Given the description of an element on the screen output the (x, y) to click on. 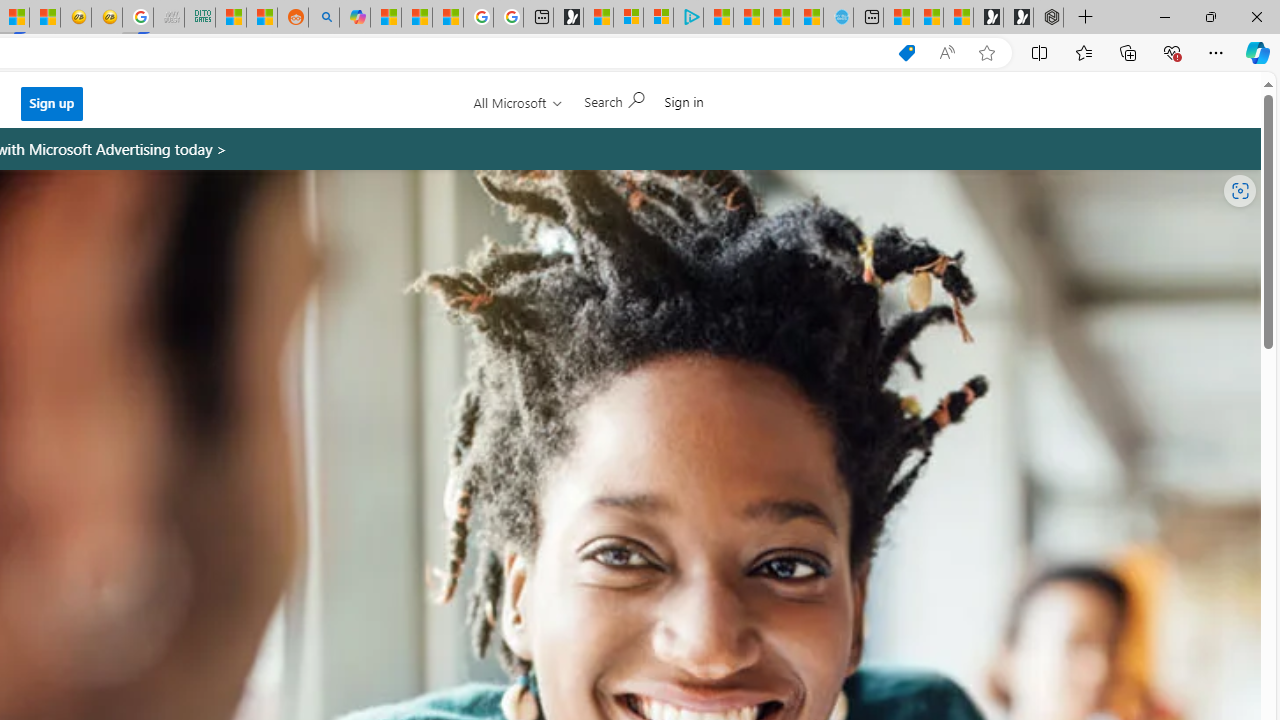
Play Free Online Games | Games from Microsoft Start (1017, 17)
Sign up (52, 103)
Utah sues federal government - Search (323, 17)
No, thanks (559, 109)
MSNBC - MSN (230, 17)
Sign up (51, 103)
